Given the description of an element on the screen output the (x, y) to click on. 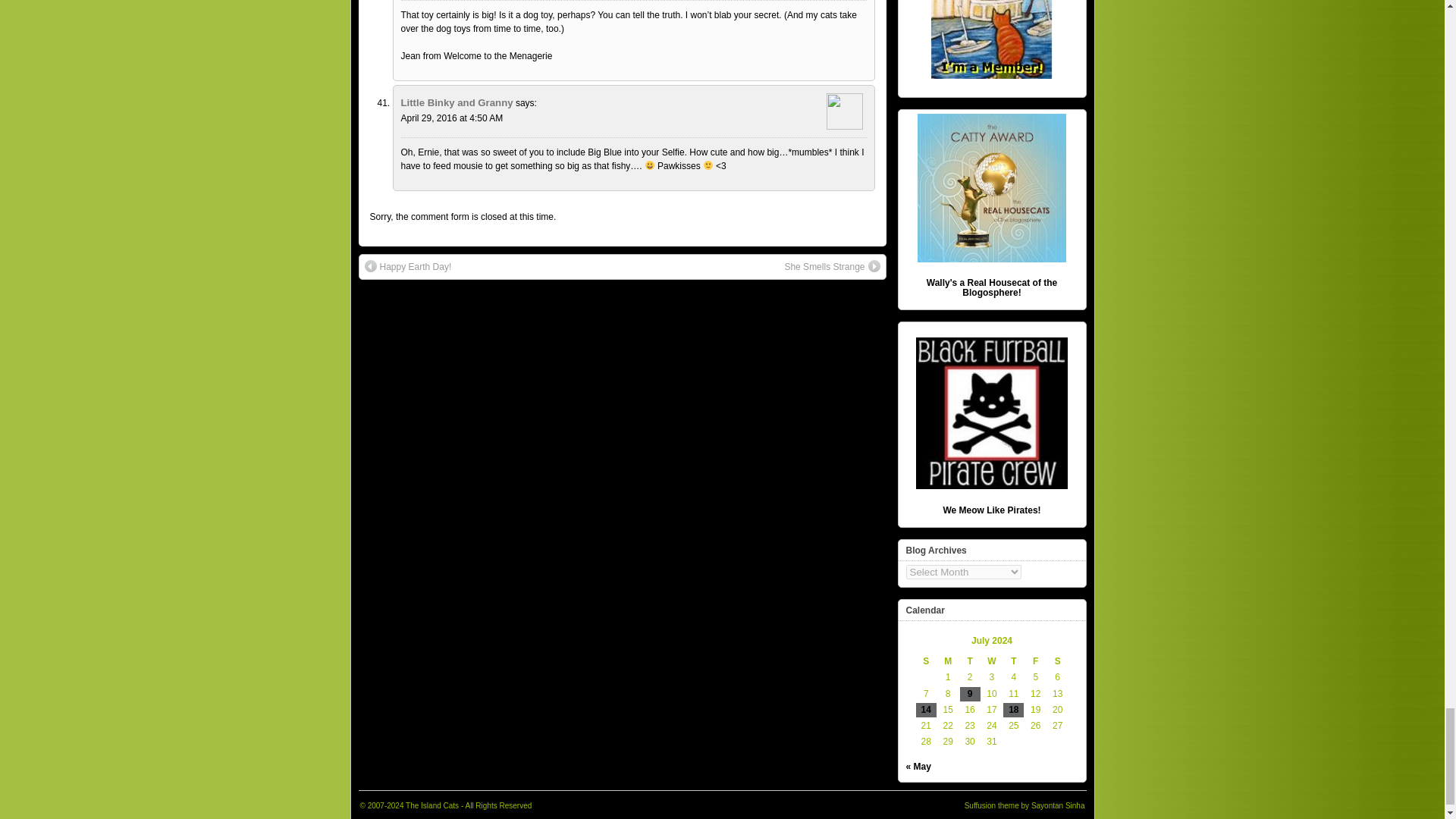
island-catbadge (991, 39)
Monday (947, 661)
Tuesday (969, 661)
catty award (991, 187)
Sunday (925, 661)
